Given the description of an element on the screen output the (x, y) to click on. 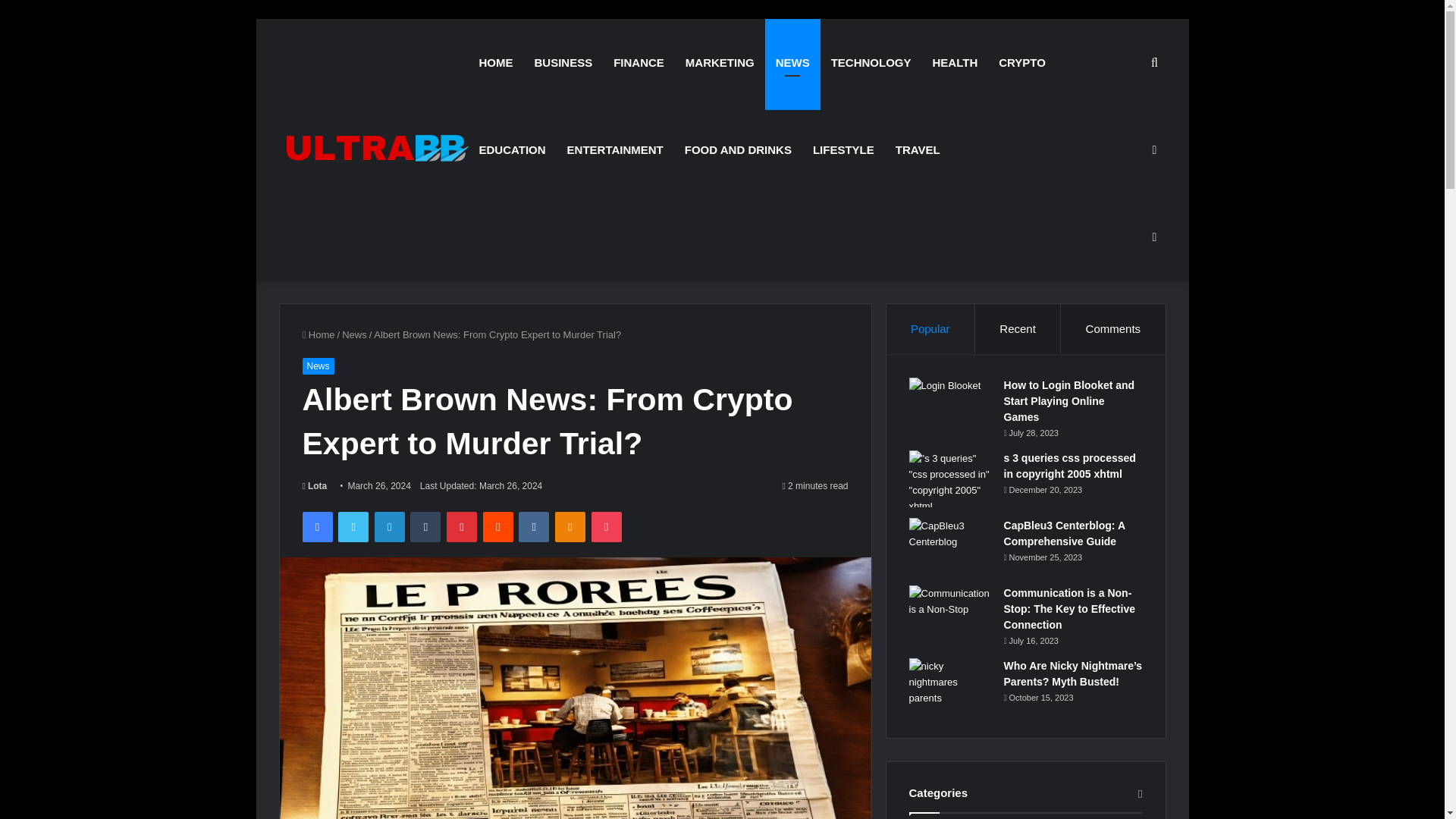
Tumblr (425, 526)
Odnoklassniki (569, 526)
Tumblr (425, 526)
News (354, 334)
ENTERTAINMENT (615, 149)
FOOD AND DRINKS (738, 149)
MARKETING (720, 62)
EDUCATION (512, 149)
Reddit (498, 526)
Facebook (316, 526)
